Given the description of an element on the screen output the (x, y) to click on. 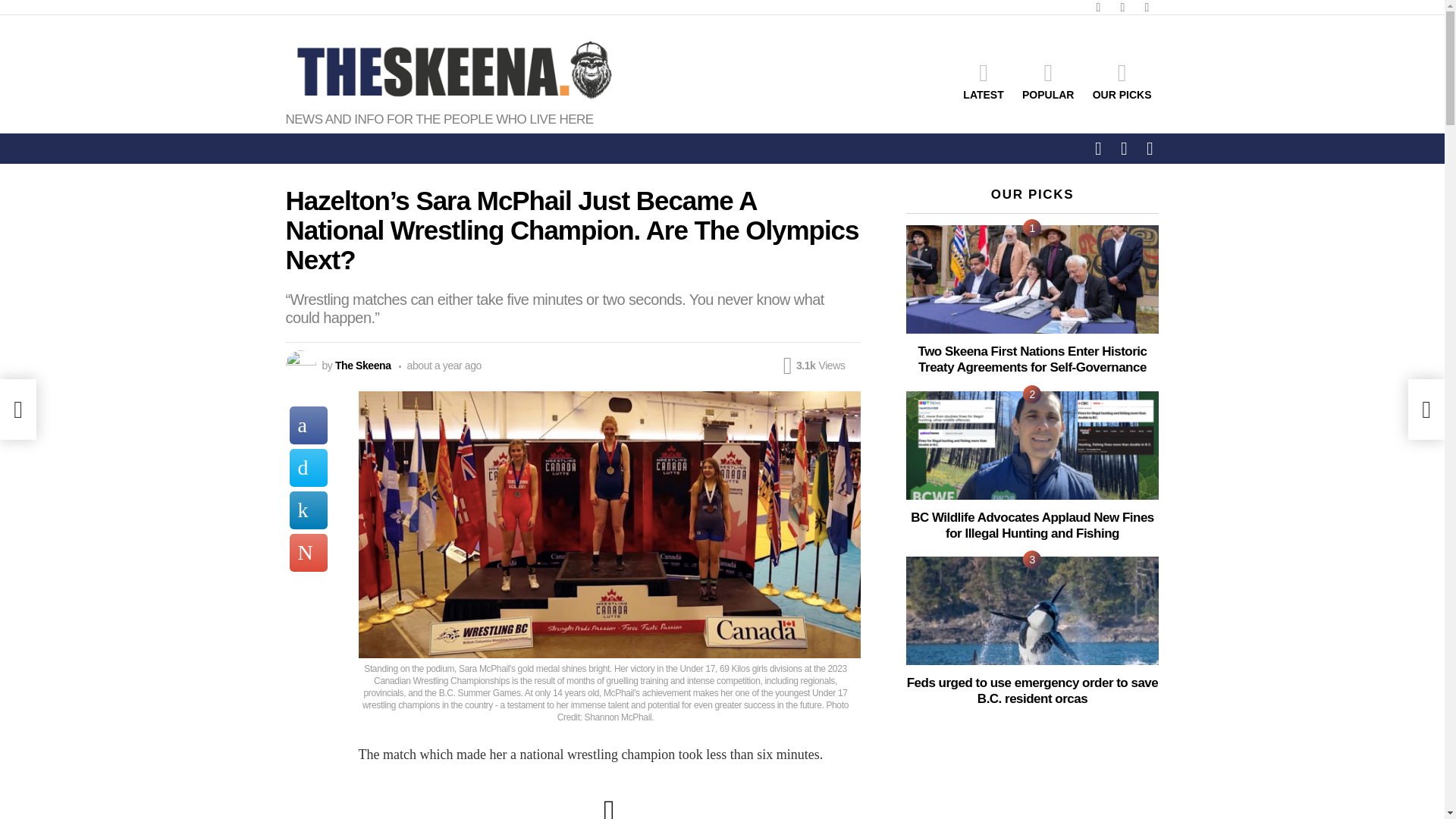
The Skeena (362, 365)
POPULAR (1047, 80)
Share on Gmail (308, 552)
LATEST (982, 80)
facebook (1097, 7)
twitter (1121, 7)
instagram (1146, 7)
March 28, 2023, 4:43 pm (439, 365)
Share on Facebook (308, 425)
Posts by The Skeena (362, 365)
